Given the description of an element on the screen output the (x, y) to click on. 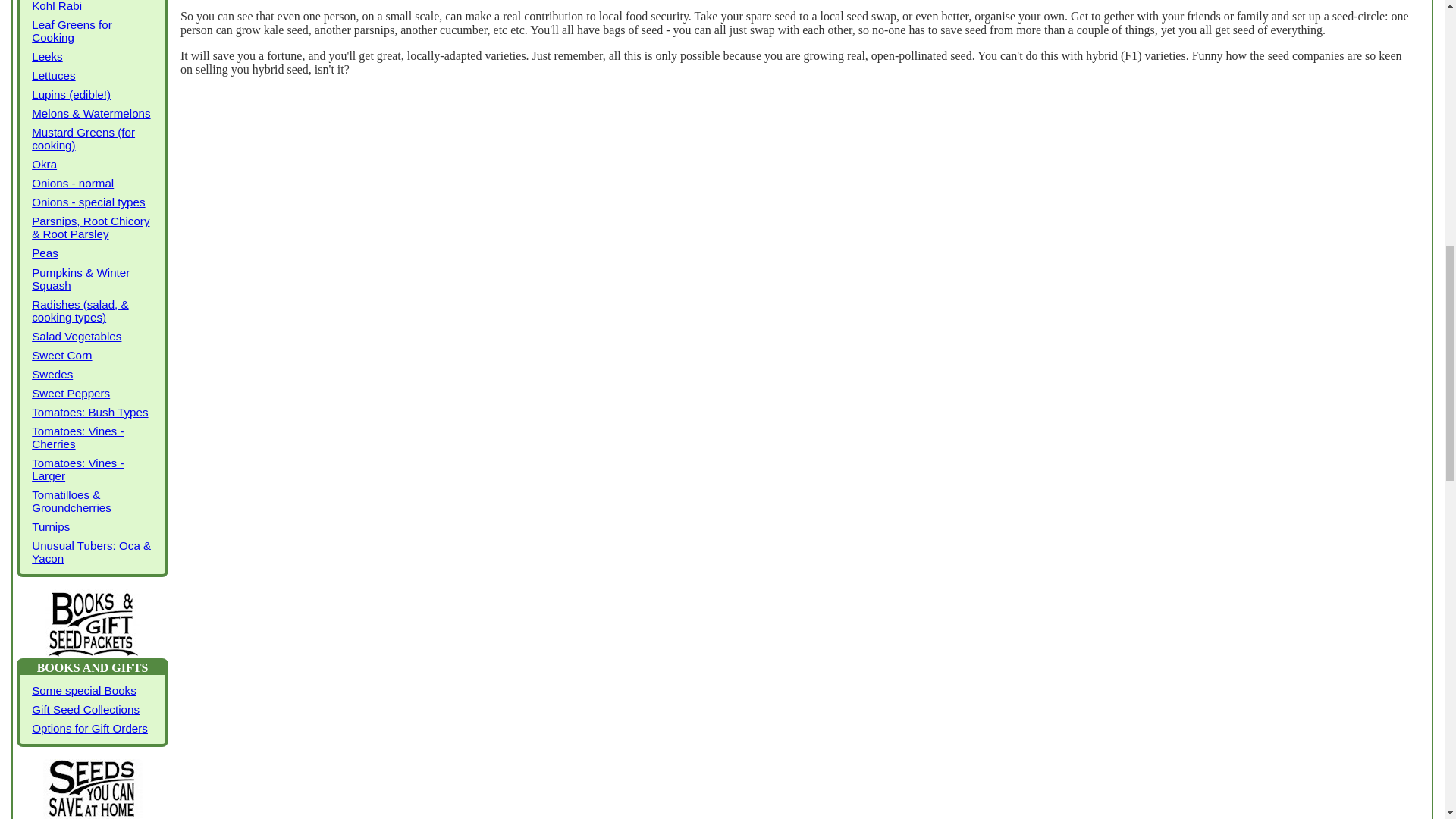
Leaf Greens for Cooking (93, 30)
Kohl Rabi (93, 7)
Leeks (93, 56)
Lettuces (93, 75)
